Given the description of an element on the screen output the (x, y) to click on. 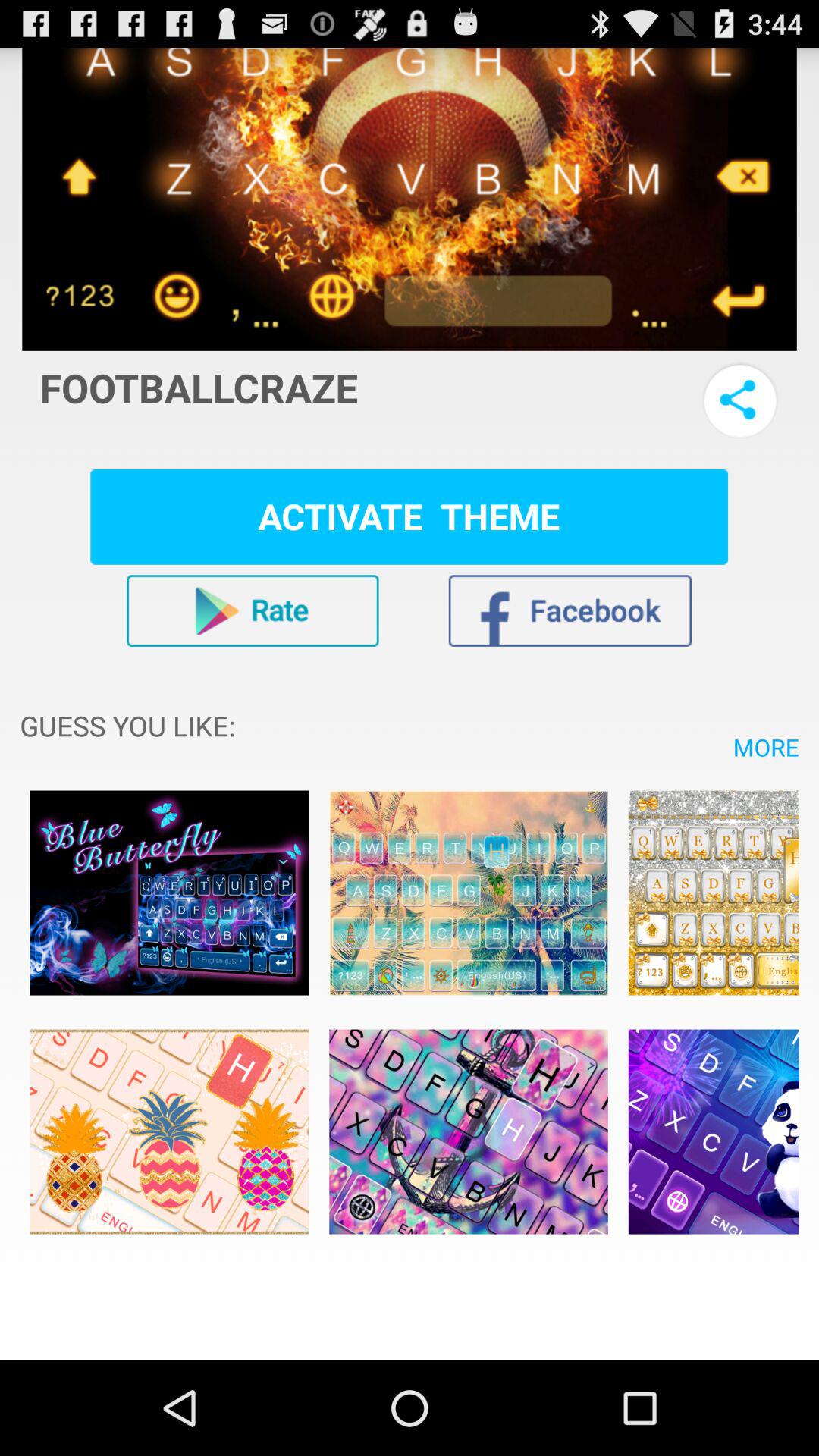
change to a different theme (713, 1131)
